Given the description of an element on the screen output the (x, y) to click on. 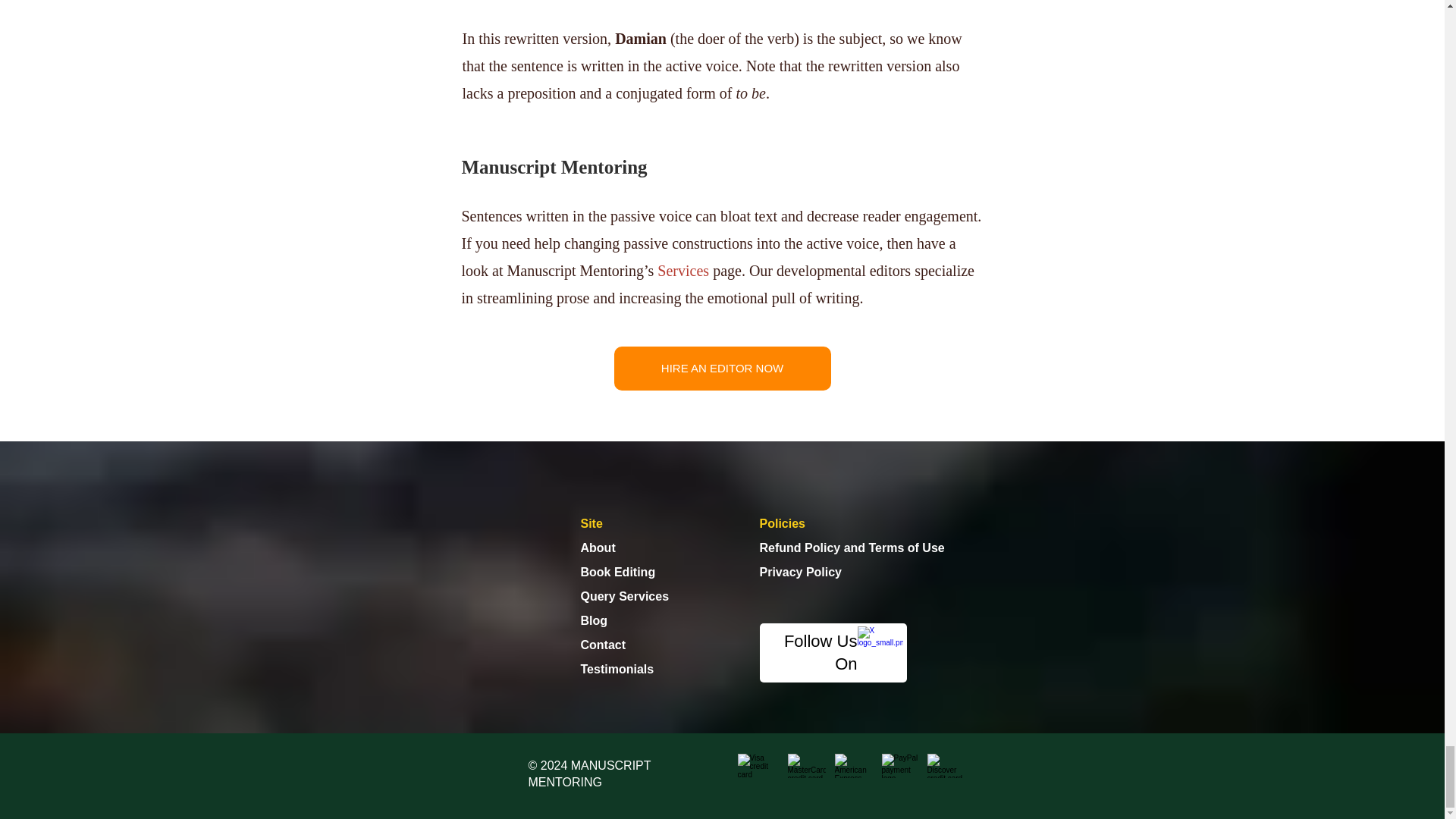
Privacy Policy (801, 571)
Refund Policy and Terms of Use (852, 547)
Services (683, 270)
Follow Us On (820, 652)
Testimonials (616, 668)
Blog (594, 620)
HIRE AN EDITOR NOW (722, 368)
Book Editing (618, 571)
Query Services (624, 595)
About (597, 547)
Contact (603, 644)
